Given the description of an element on the screen output the (x, y) to click on. 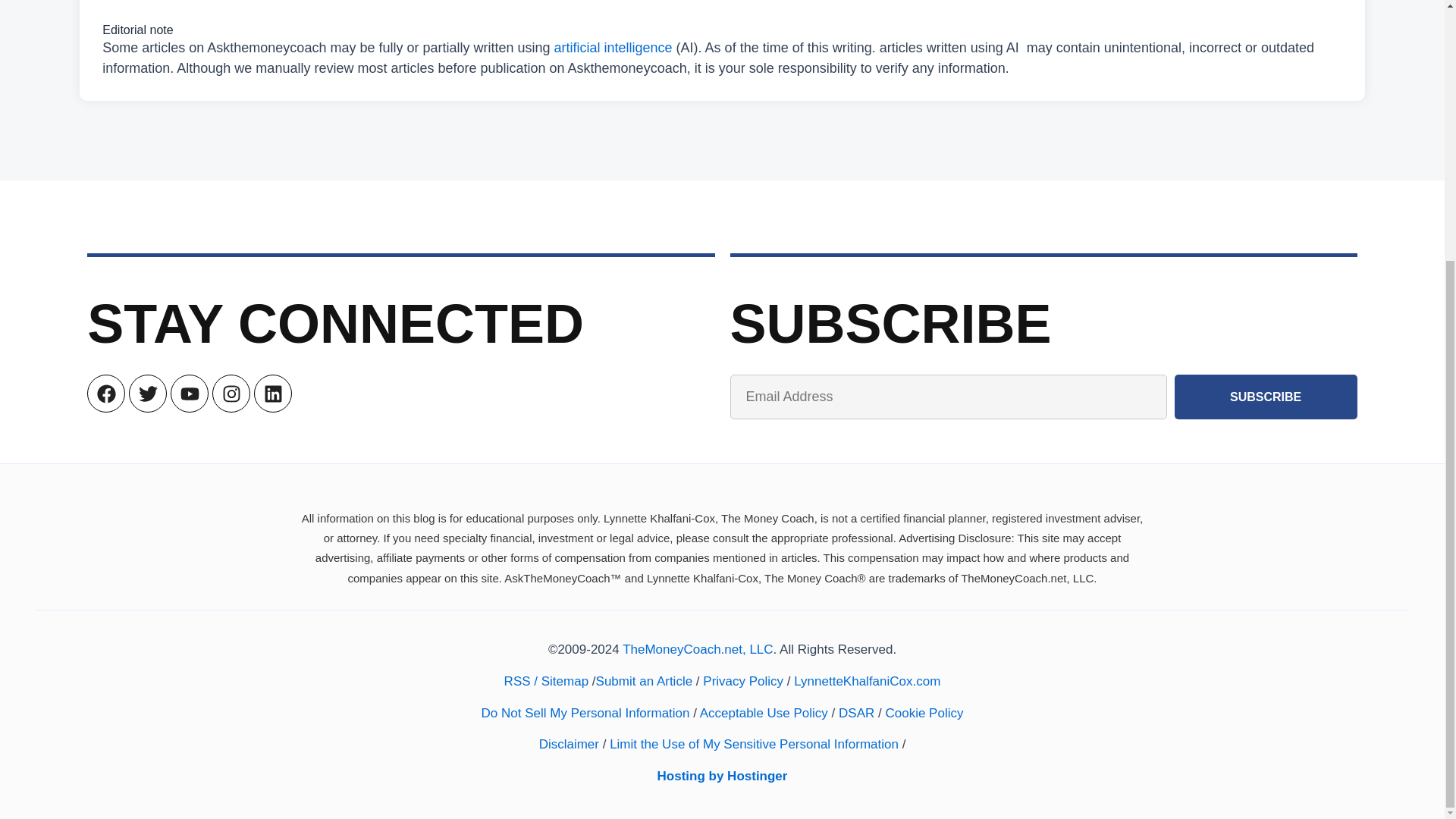
artificial intelligence (613, 47)
Facebook (106, 393)
SUBSCRIBE (1265, 396)
Twitter (148, 393)
Youtube (189, 393)
TheMoneyCoach.net, LLC (698, 649)
Instagram (231, 393)
Linkedin (272, 393)
